Given the description of an element on the screen output the (x, y) to click on. 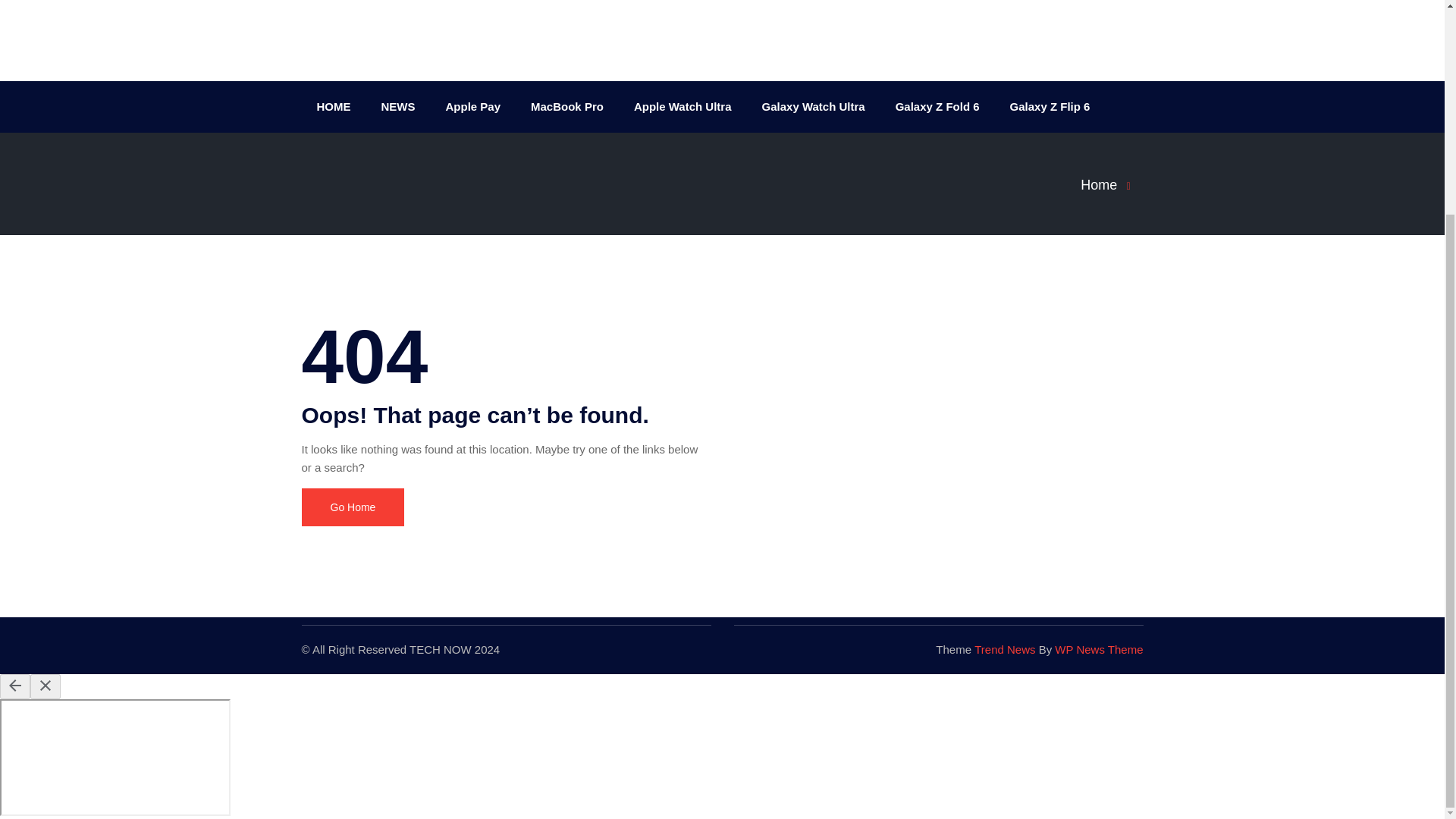
Galaxy Z Flip 6 (1049, 106)
Home (1110, 184)
Apple Pay (473, 106)
MacBook Pro (566, 106)
Go Home (352, 507)
Advertisement (721, 36)
Apple Pay (473, 106)
Trend News (1004, 649)
Galaxy Z Fold 6 (937, 106)
HOME (333, 106)
